Given the description of an element on the screen output the (x, y) to click on. 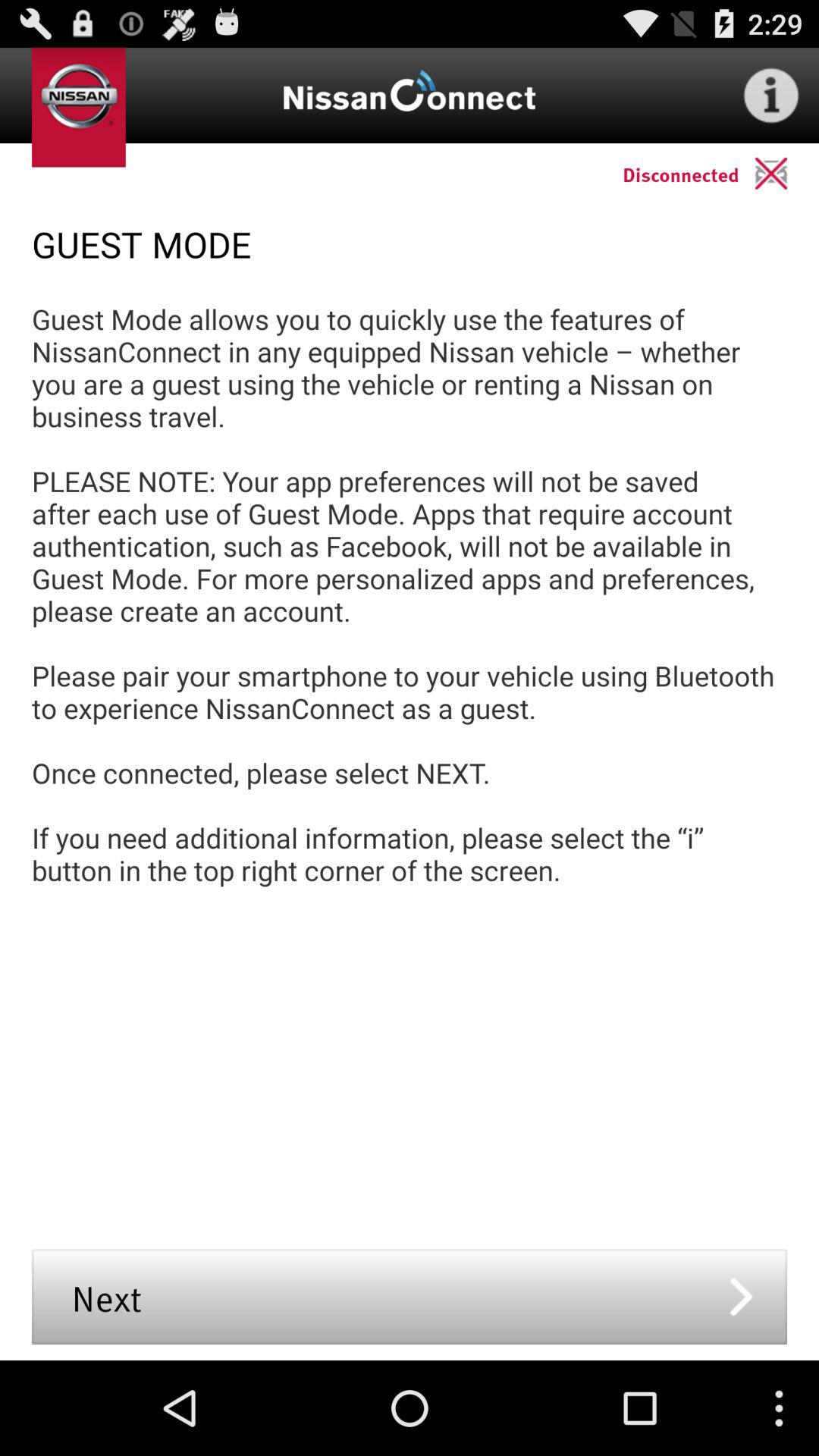
click the next icon (409, 1296)
